Given the description of an element on the screen output the (x, y) to click on. 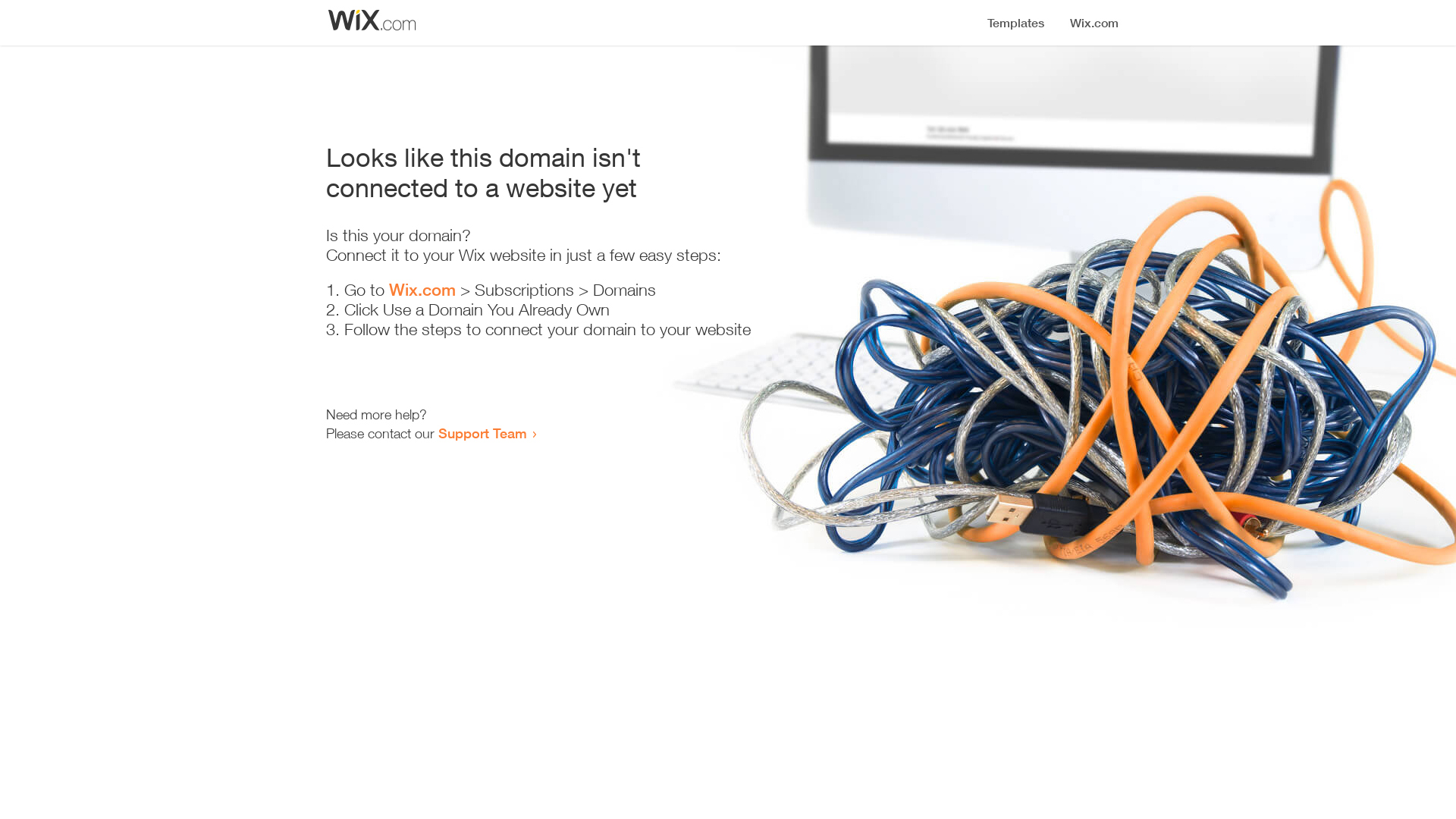
Support Team Element type: text (482, 432)
Wix.com Element type: text (422, 289)
